Given the description of an element on the screen output the (x, y) to click on. 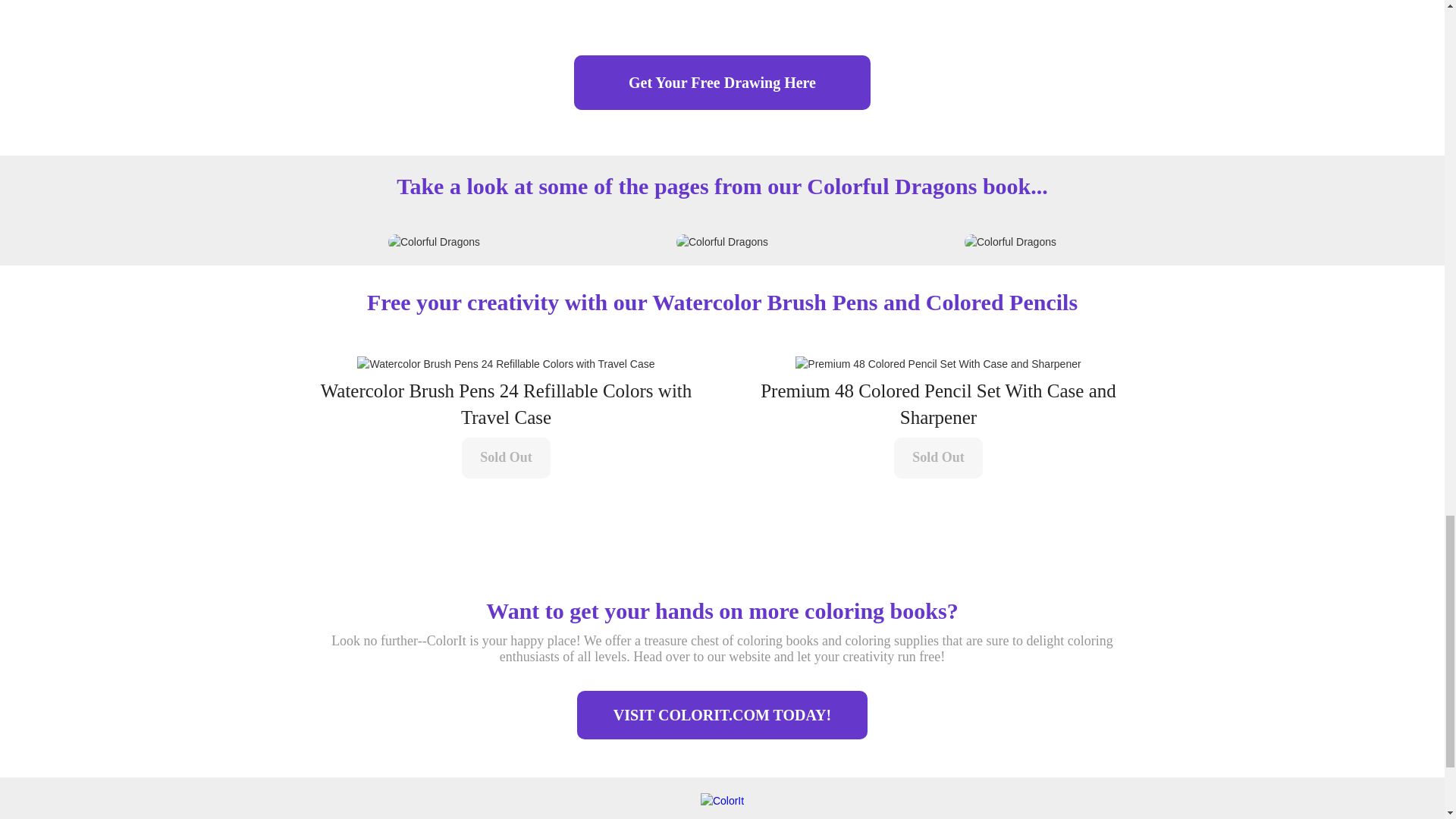
Get Your Free Drawing Here (721, 82)
Sold Out (505, 457)
VISIT COLORIT.COM TODAY! (721, 715)
Sold Out (937, 457)
